Given the description of an element on the screen output the (x, y) to click on. 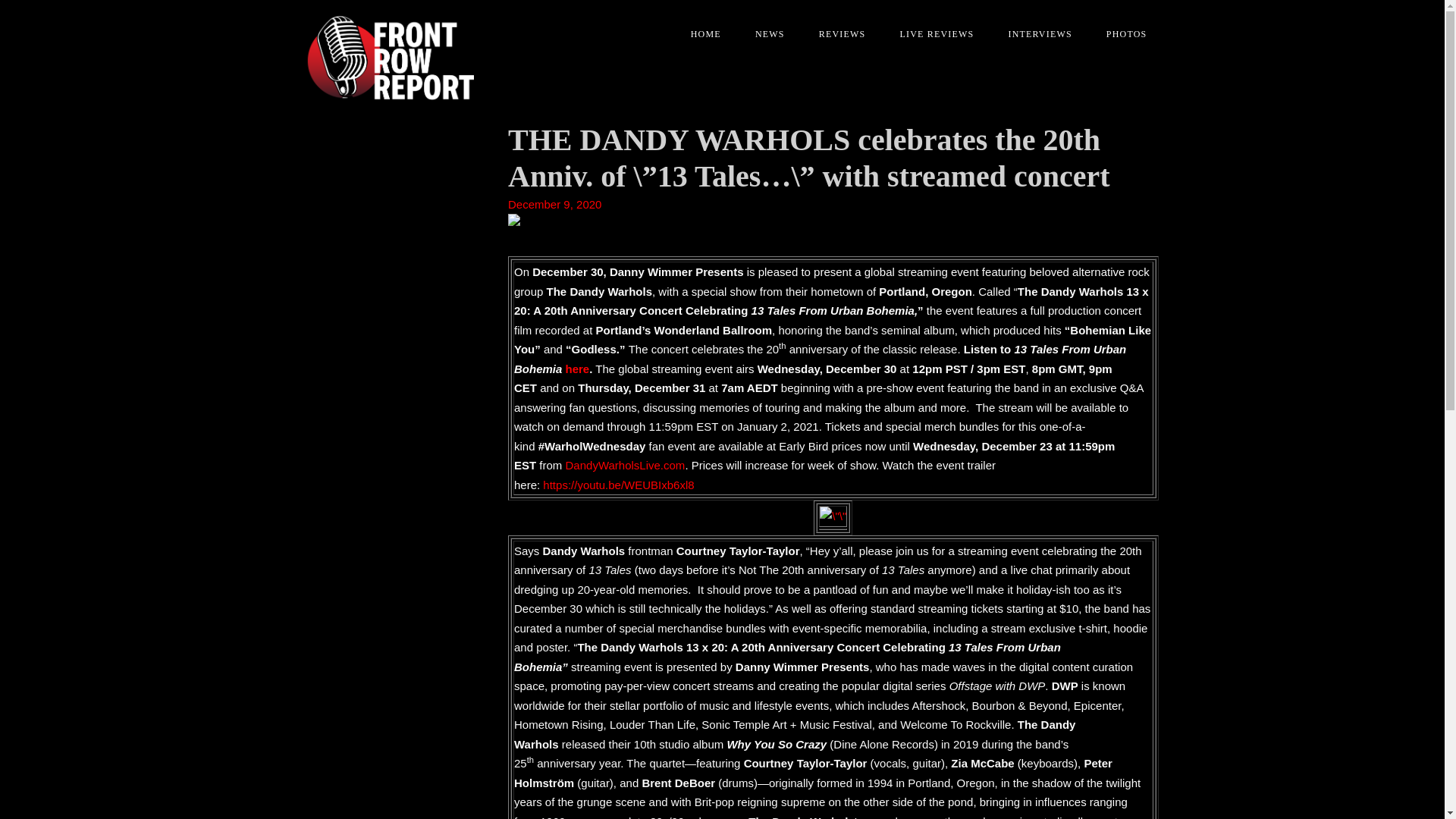
LIVE REVIEWS (930, 34)
here (577, 368)
news (764, 34)
INTERVIEWS (1034, 34)
NEWS (764, 34)
PHOTOS (1120, 34)
REVIEWS (836, 34)
DandyWarholsLive.com (625, 464)
HOME (700, 34)
